Given the description of an element on the screen output the (x, y) to click on. 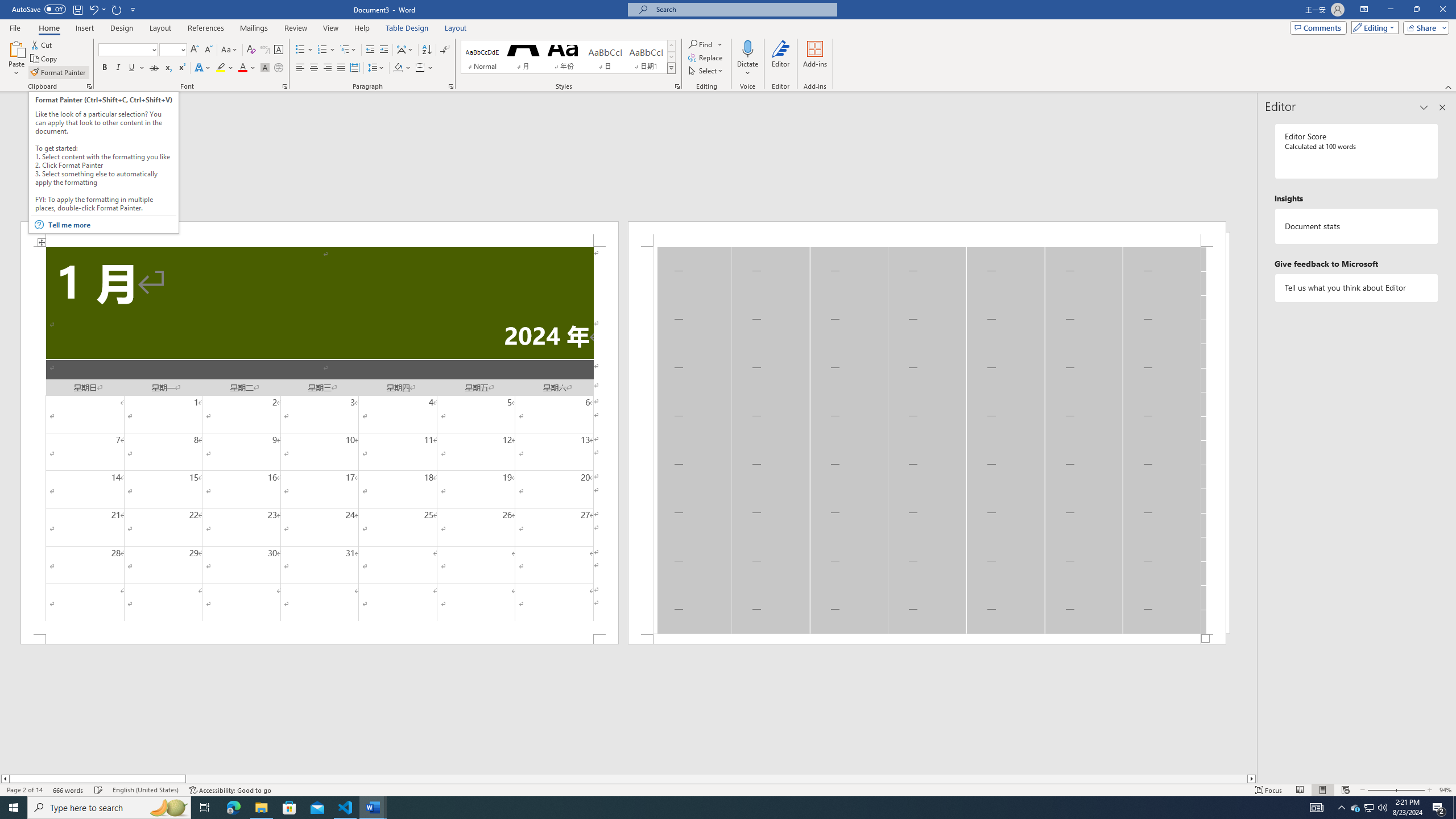
Grow Font (193, 49)
Increase Indent (383, 49)
Repeat Doc Close (117, 9)
Select (705, 69)
Clear Formatting (250, 49)
Line and Paragraph Spacing (376, 67)
Justify (340, 67)
Tell me more (111, 225)
Sort... (426, 49)
